Given the description of an element on the screen output the (x, y) to click on. 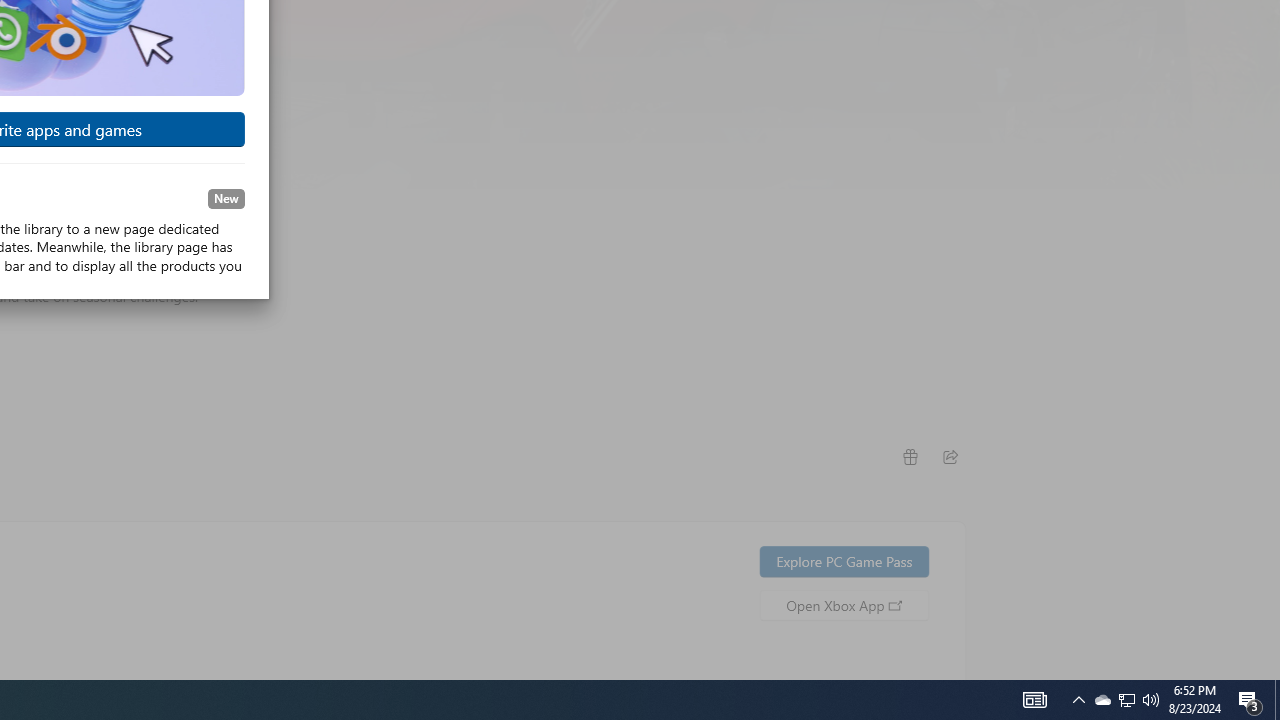
Buy as gift (909, 456)
Open Xbox App (844, 603)
Explore PC Game Pass (844, 560)
Share (950, 456)
